Given the description of an element on the screen output the (x, y) to click on. 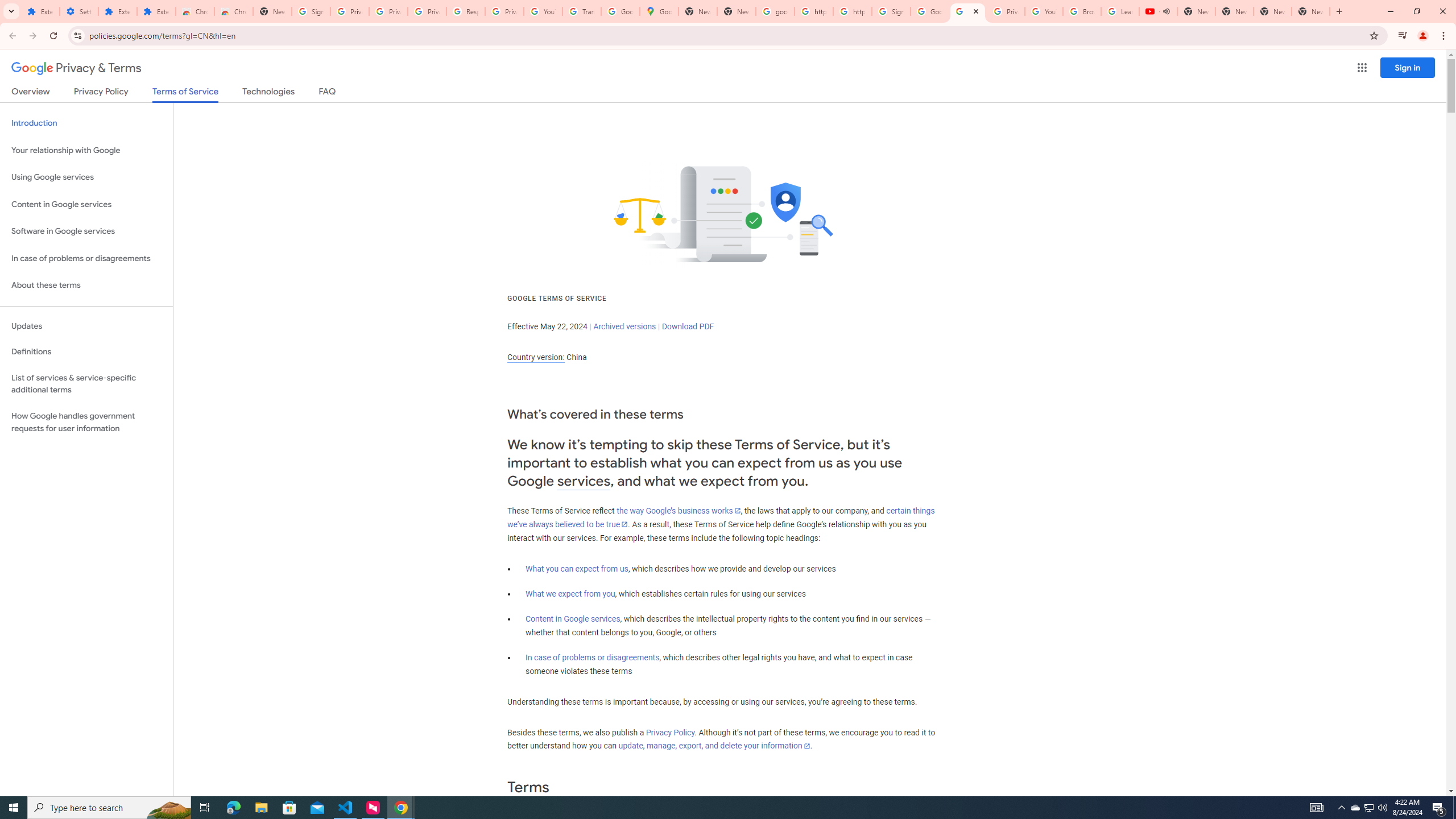
How Google handles government requests for user information (86, 422)
What we expect from you (570, 593)
https://scholar.google.com/ (813, 11)
Country version: (535, 357)
Download PDF (687, 326)
Google Maps (659, 11)
Content in Google services (572, 618)
Extensions (40, 11)
